Given the description of an element on the screen output the (x, y) to click on. 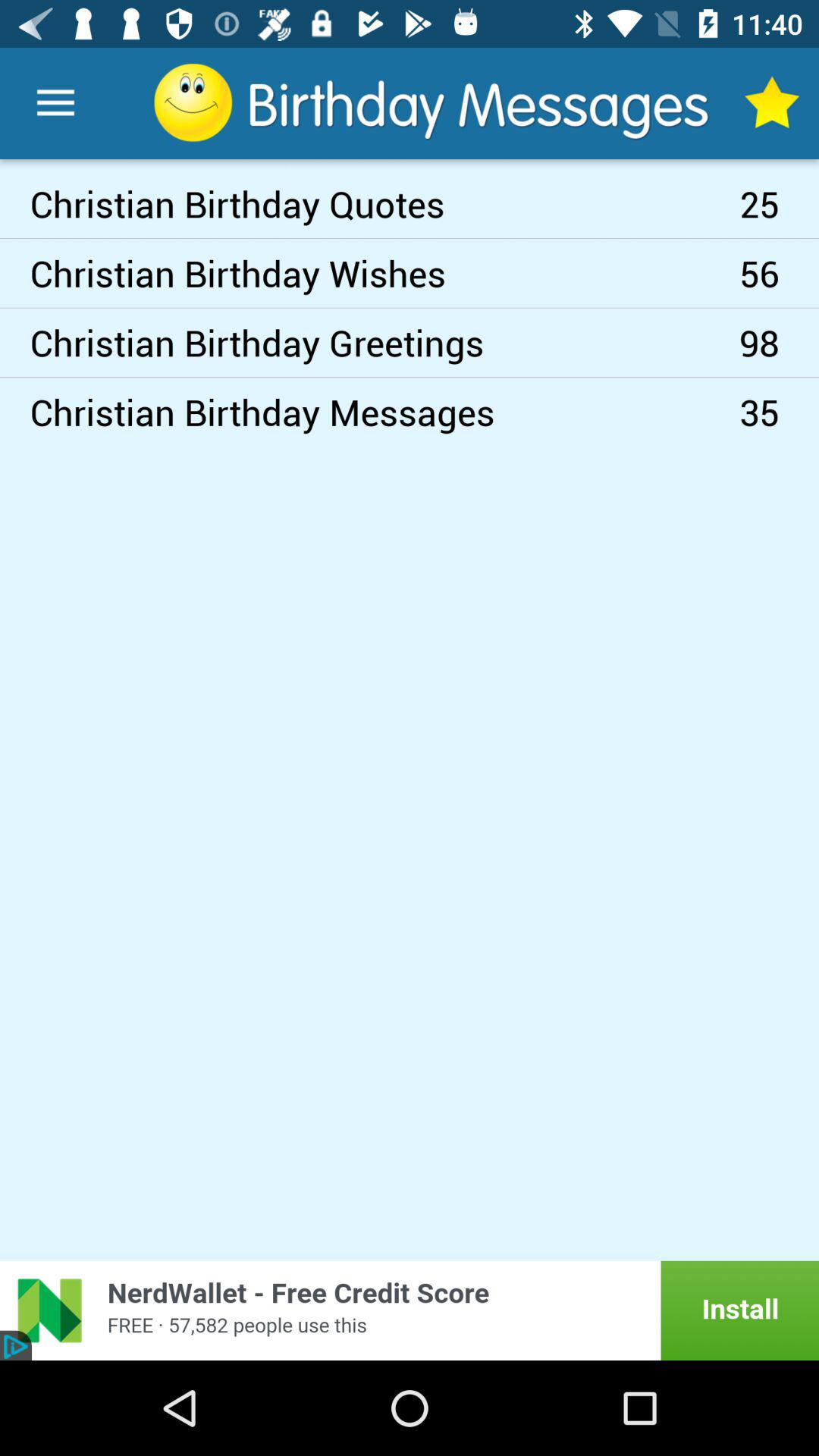
turn on the icon next to the christian birthday messages item (779, 342)
